Given the description of an element on the screen output the (x, y) to click on. 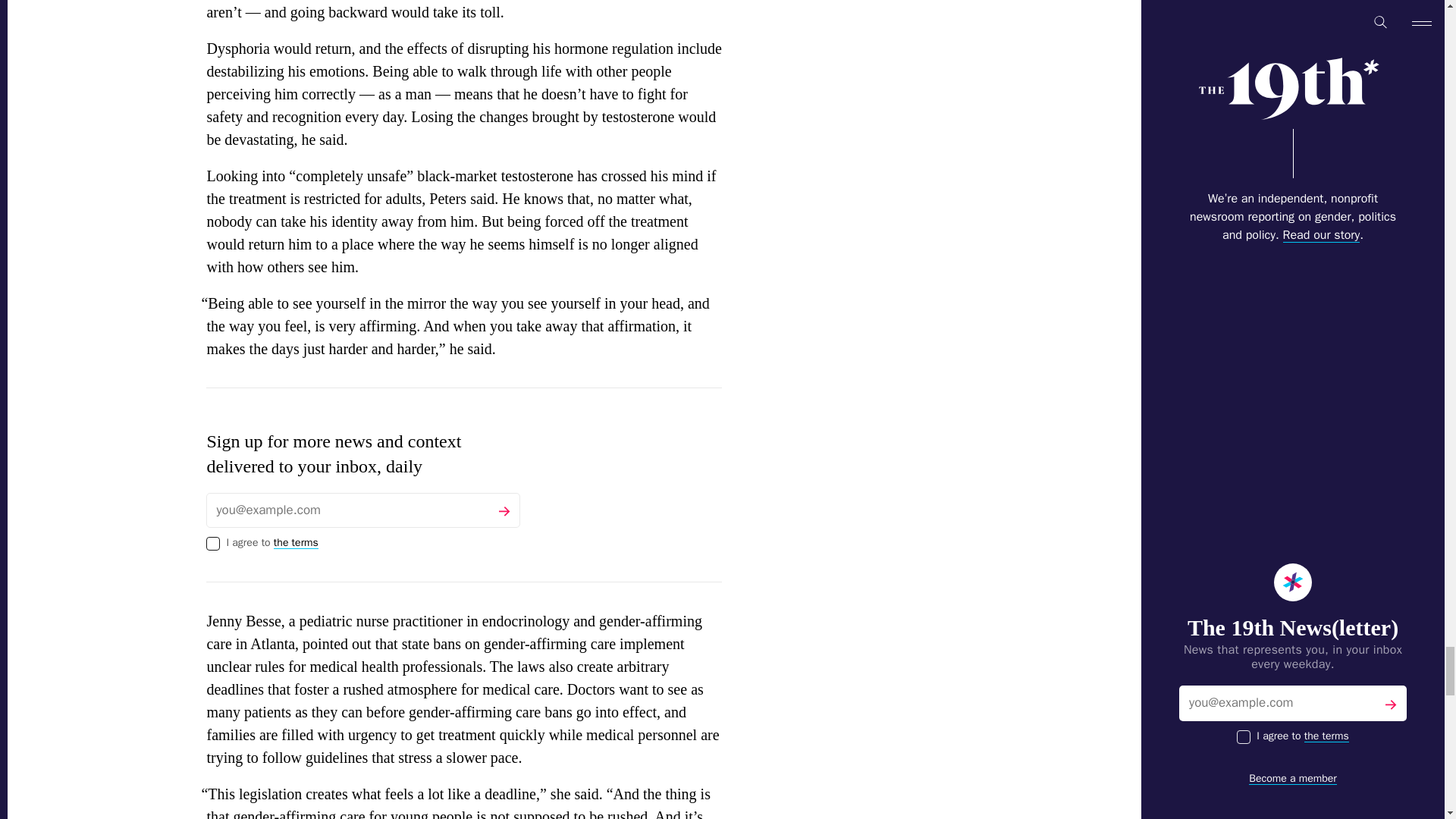
on (212, 543)
